Given the description of an element on the screen output the (x, y) to click on. 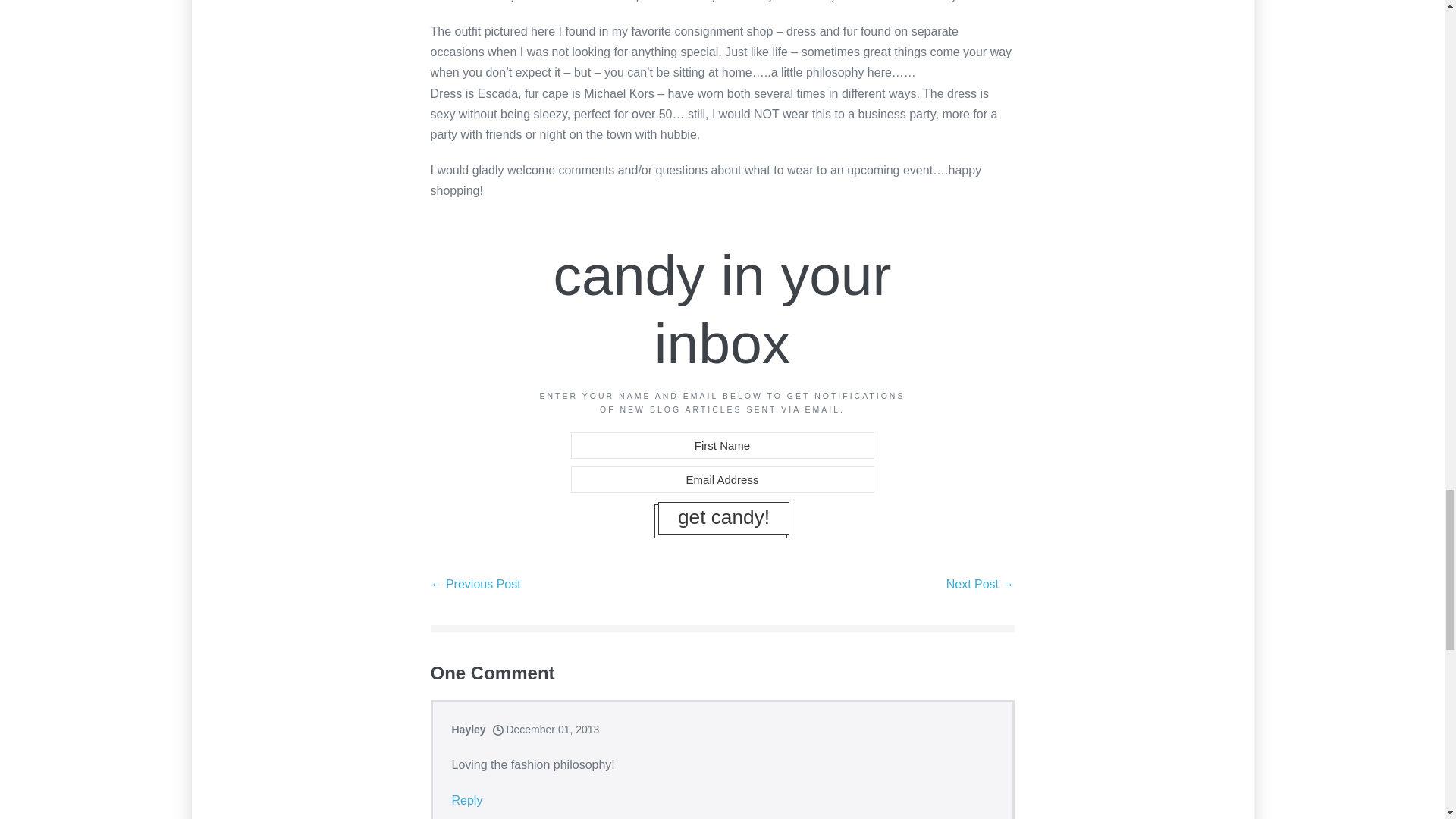
Reply (467, 800)
December 01, 2013 (546, 729)
Click Here (723, 518)
get candy! (723, 518)
